Given the description of an element on the screen output the (x, y) to click on. 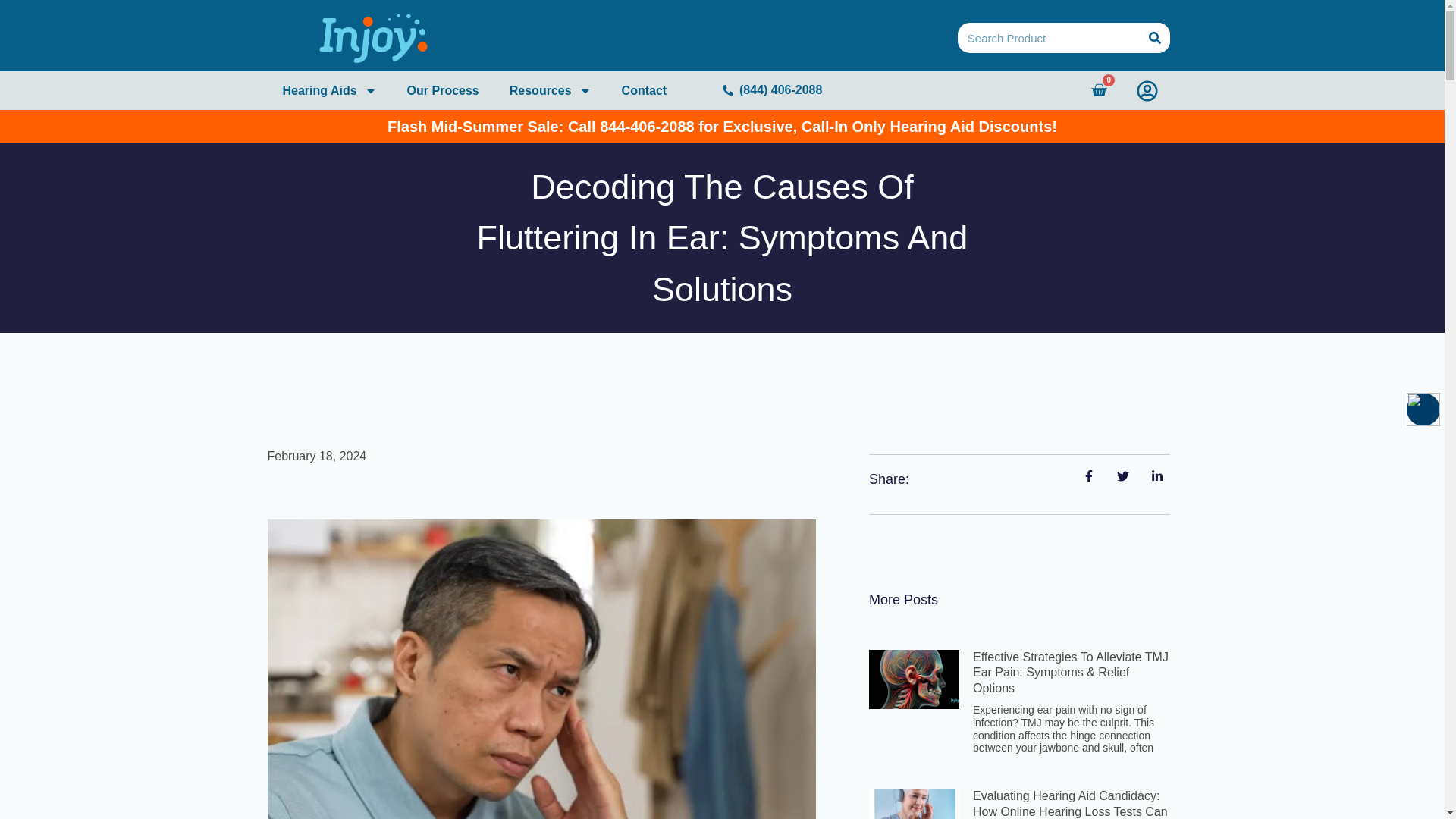
Resources (551, 89)
Contact (644, 89)
Hearing Aids (328, 89)
Search (1153, 37)
Accessibility Menu (1098, 90)
Our Process (1422, 409)
